Given the description of an element on the screen output the (x, y) to click on. 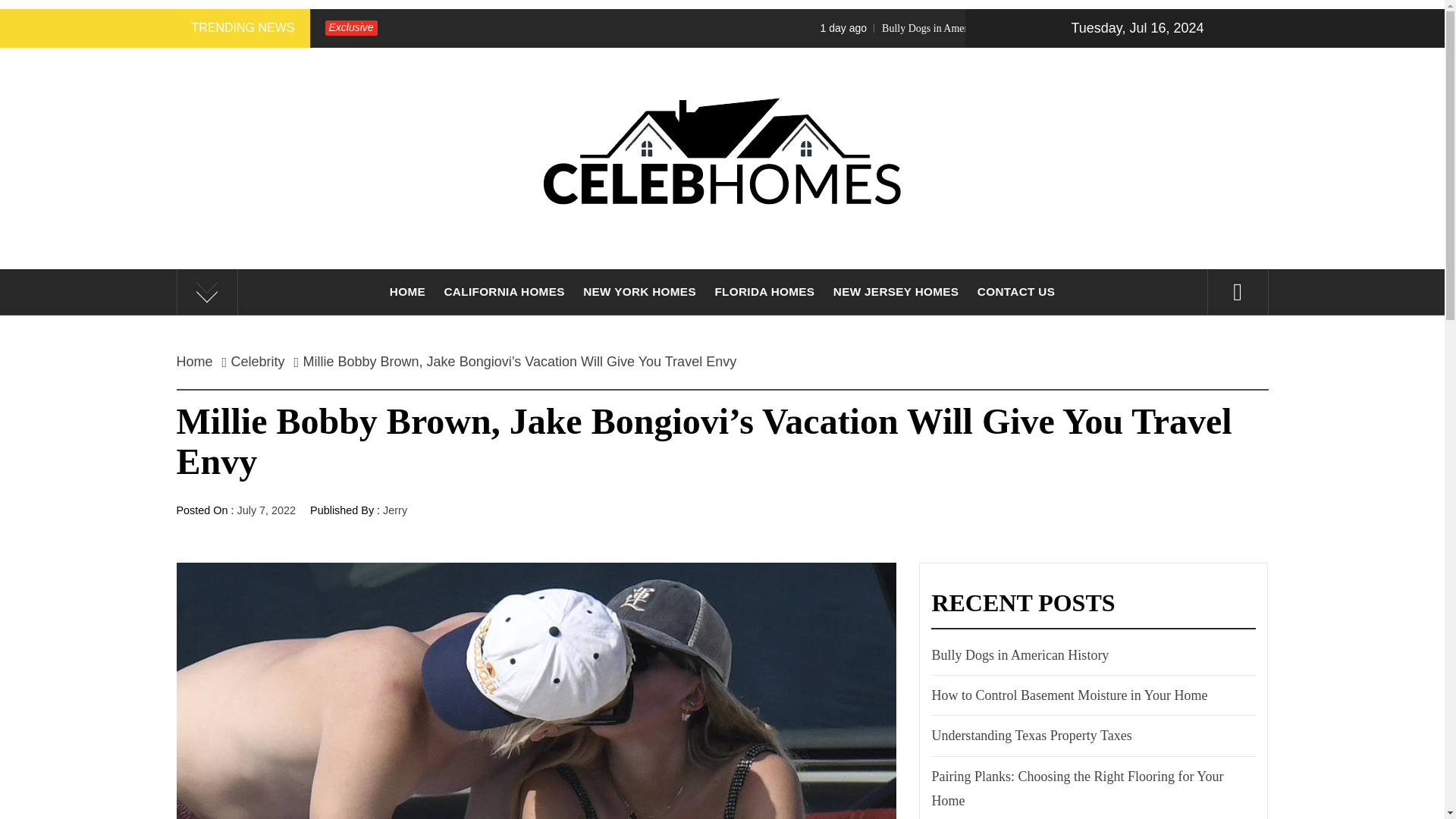
1 day agoBully Dogs in American History (1050, 28)
NEW JERSEY HOMES (895, 291)
CELEBRITY HOMES (721, 287)
CONTACT US (1015, 291)
Search (797, 37)
Home (198, 361)
HOME (406, 291)
FLORIDA HOMES (764, 291)
NEW YORK HOMES (639, 291)
CALIFORNIA HOMES (504, 291)
